Given the description of an element on the screen output the (x, y) to click on. 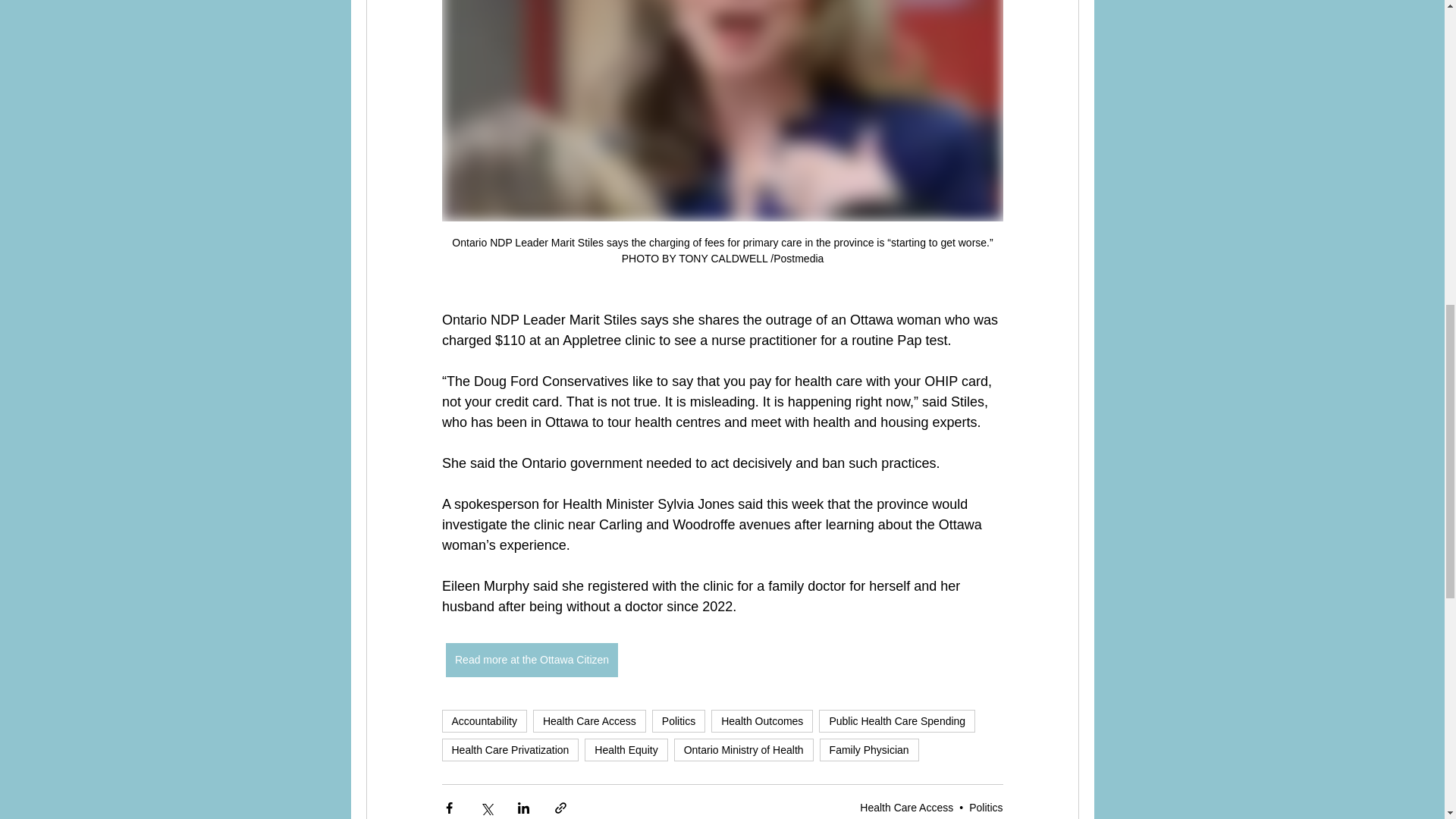
Accountability (483, 721)
Politics (678, 721)
Health Care Access (589, 721)
Health Outcomes (761, 721)
Family Physician (868, 749)
Public Health Care Spending (896, 721)
Health Care Access (906, 807)
Ontario Ministry of Health (743, 749)
Politics (986, 807)
Health Equity (625, 749)
